Given the description of an element on the screen output the (x, y) to click on. 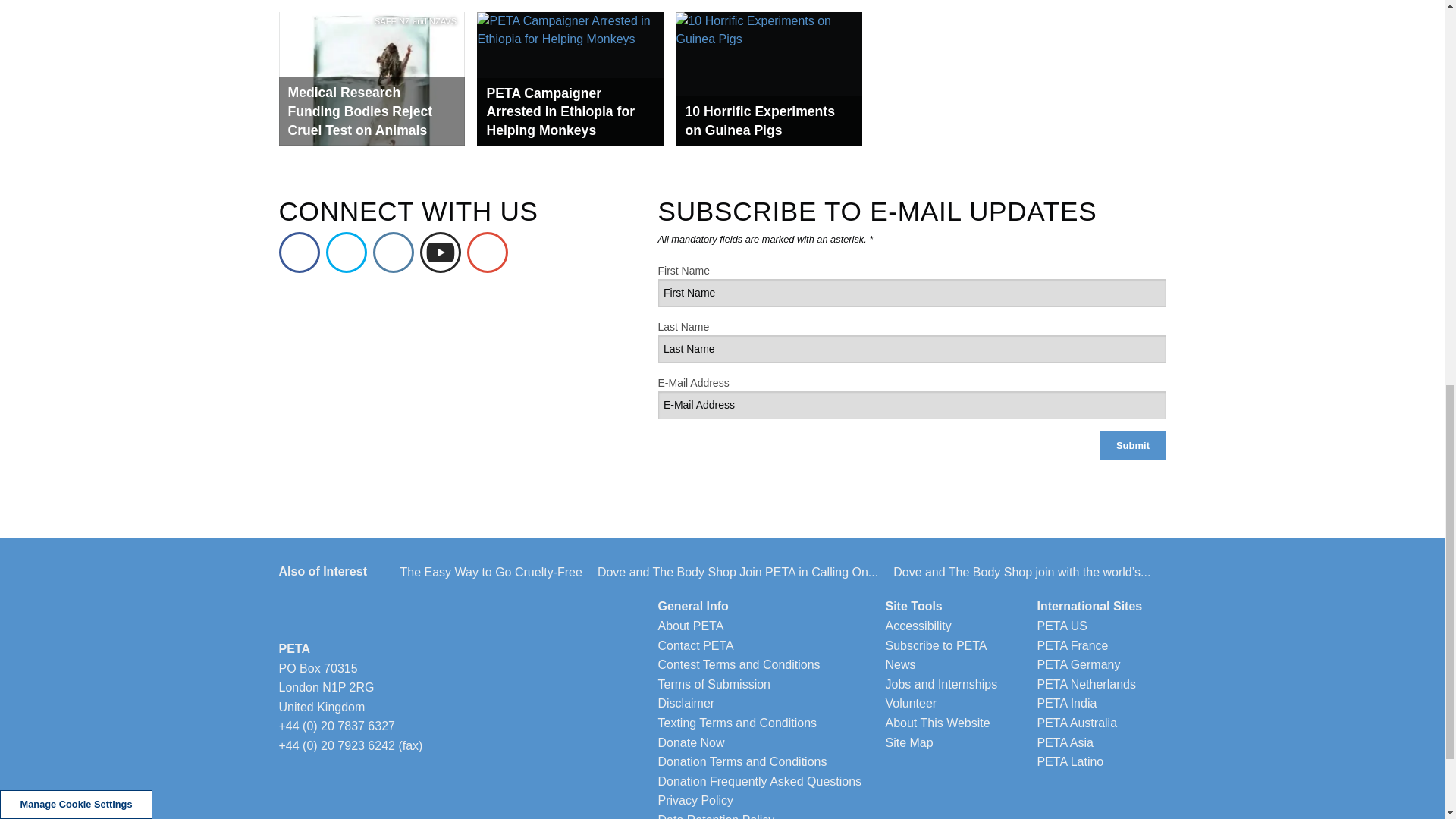
Submit (1132, 445)
